Given the description of an element on the screen output the (x, y) to click on. 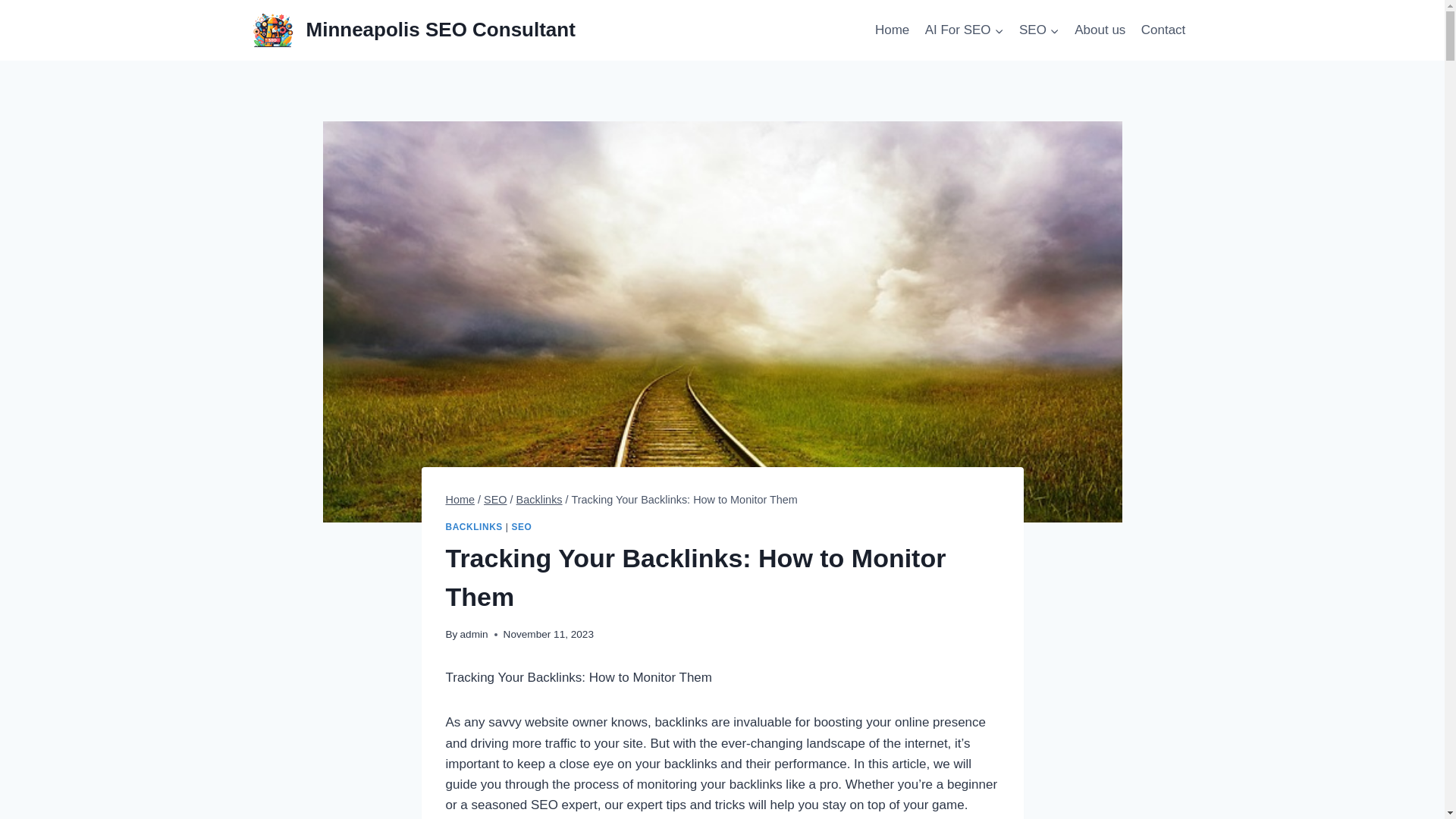
Backlinks (539, 499)
SEO (494, 499)
Home (460, 499)
SEO (1039, 30)
admin (473, 633)
Minneapolis SEO Consultant (413, 29)
Contact (1163, 30)
Home (892, 30)
SEO (521, 526)
About us (1099, 30)
